Given the description of an element on the screen output the (x, y) to click on. 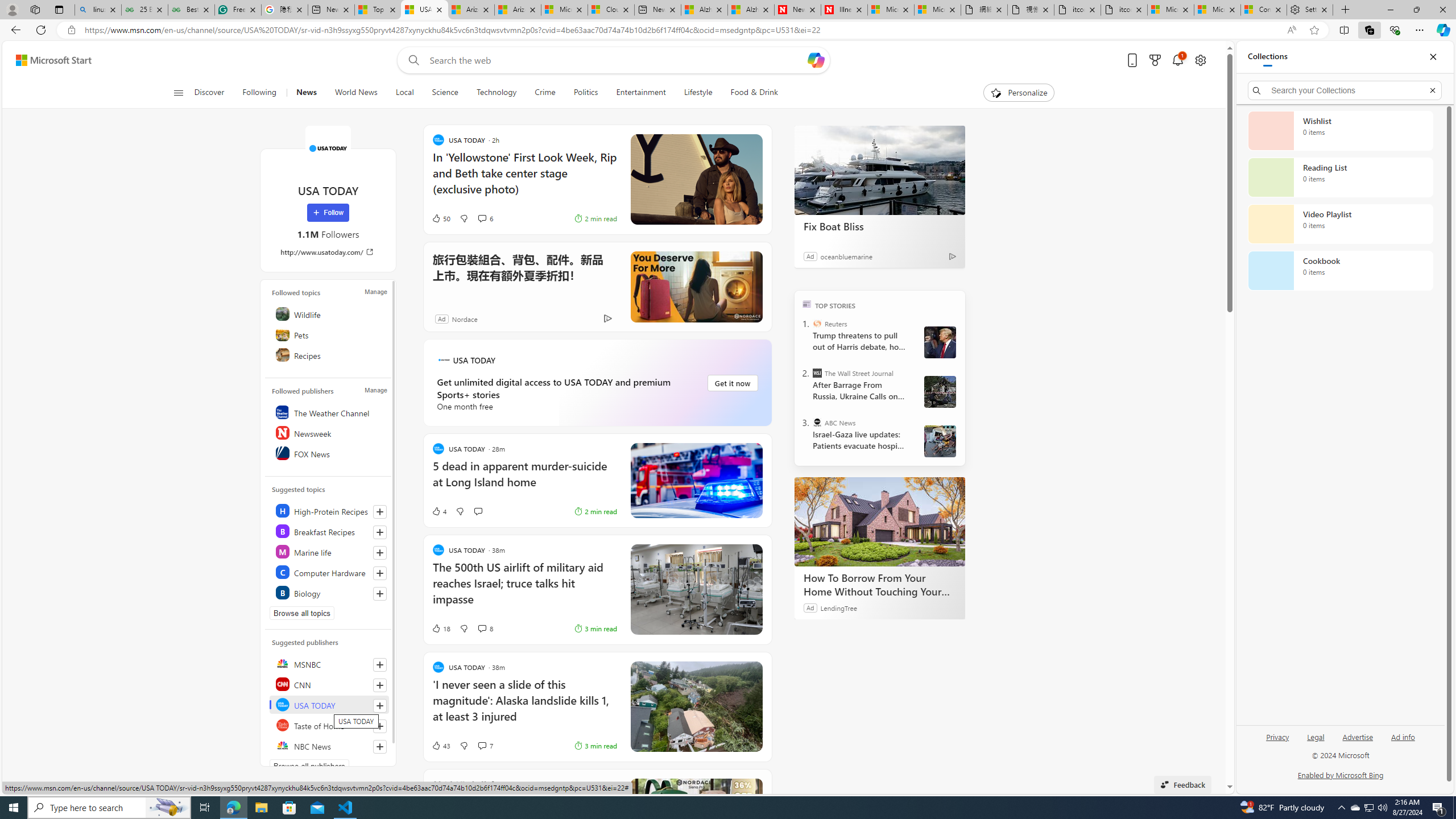
The Wall Street Journal (816, 372)
